Given the description of an element on the screen output the (x, y) to click on. 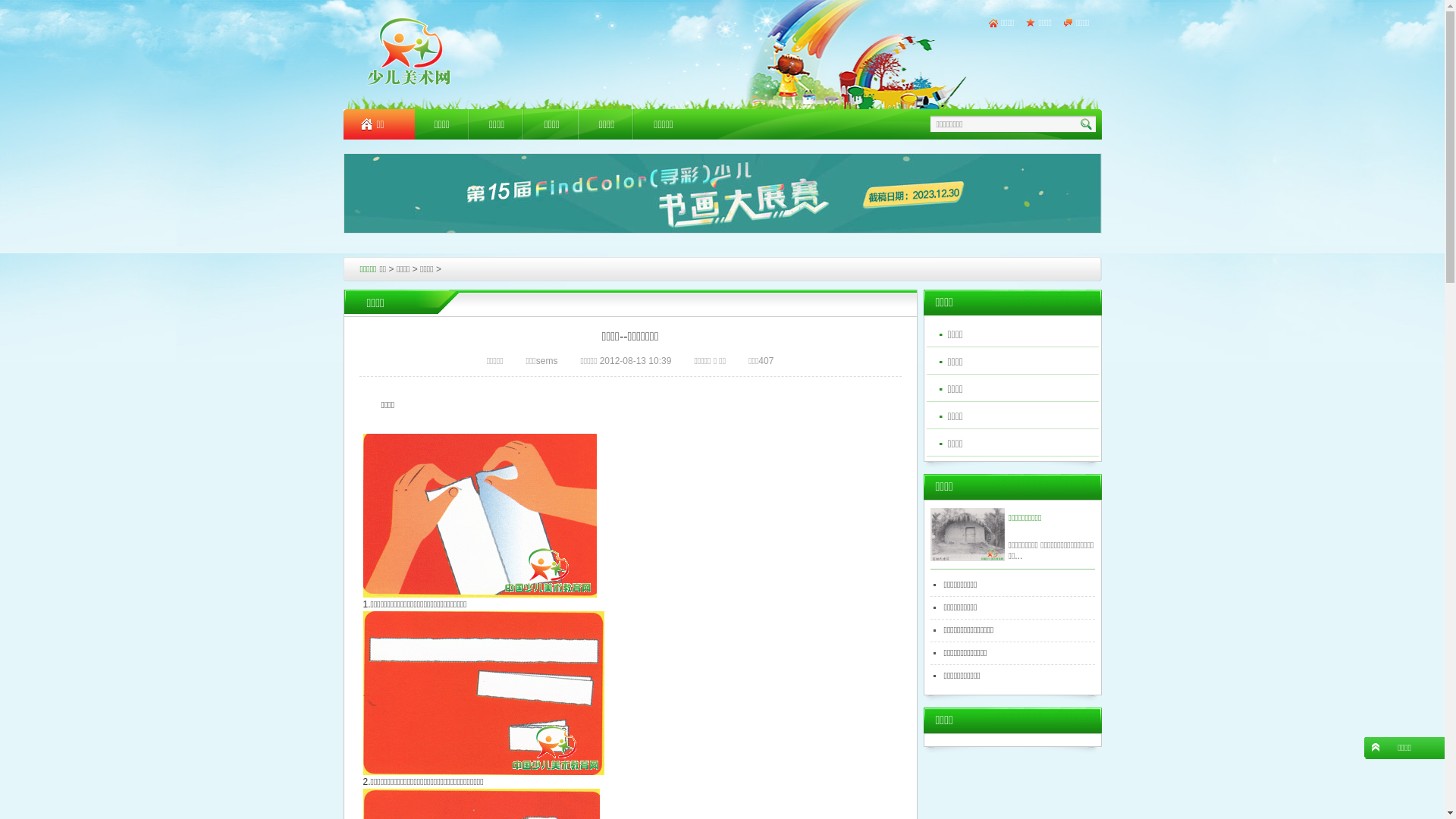
  Element type: text (1087, 123)
